Given the description of an element on the screen output the (x, y) to click on. 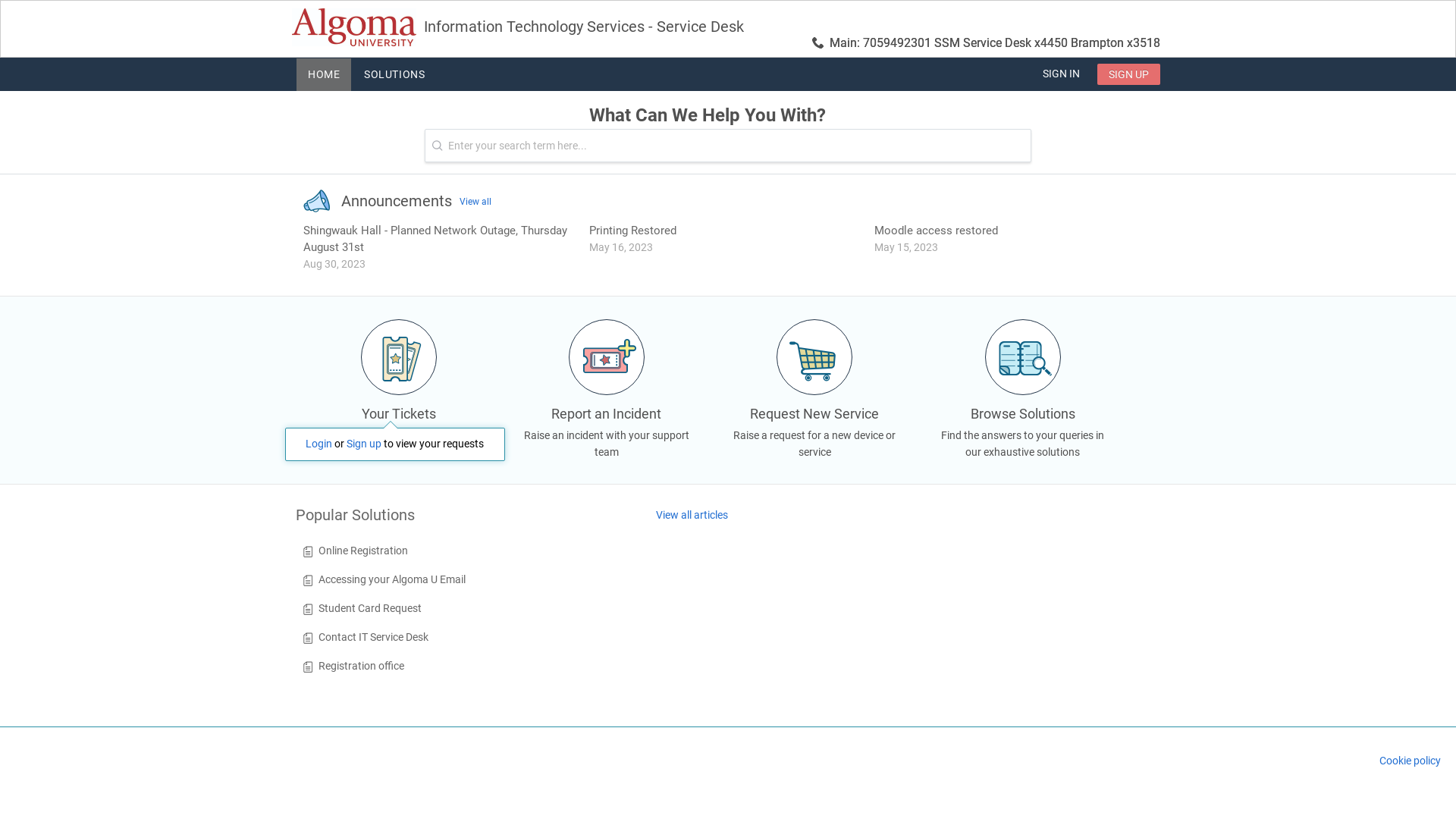
View all Element type: text (475, 201)
Login Element type: text (318, 443)
Your Tickets
All your tickets, responses & activities Element type: text (398, 398)
SIGN UP Element type: text (1128, 73)
Cookie policy Element type: text (1409, 760)
Sign up Element type: text (363, 443)
Online Registration Element type: text (362, 550)
View all articles Element type: text (691, 515)
Moodle access restored Element type: text (935, 230)
Contact IT Service Desk Element type: text (373, 636)
Accessing your Algoma U Email Element type: text (391, 579)
SIGN IN Element type: text (1060, 73)
HOME Element type: text (323, 74)
SOLUTIONS Element type: text (394, 74)
Student Card Request Element type: text (369, 608)
Registration office Element type: text (361, 665)
Report an Incident
Raise an incident with your support team Element type: text (605, 406)
Printing Restored Element type: text (632, 230)
